Given the description of an element on the screen output the (x, y) to click on. 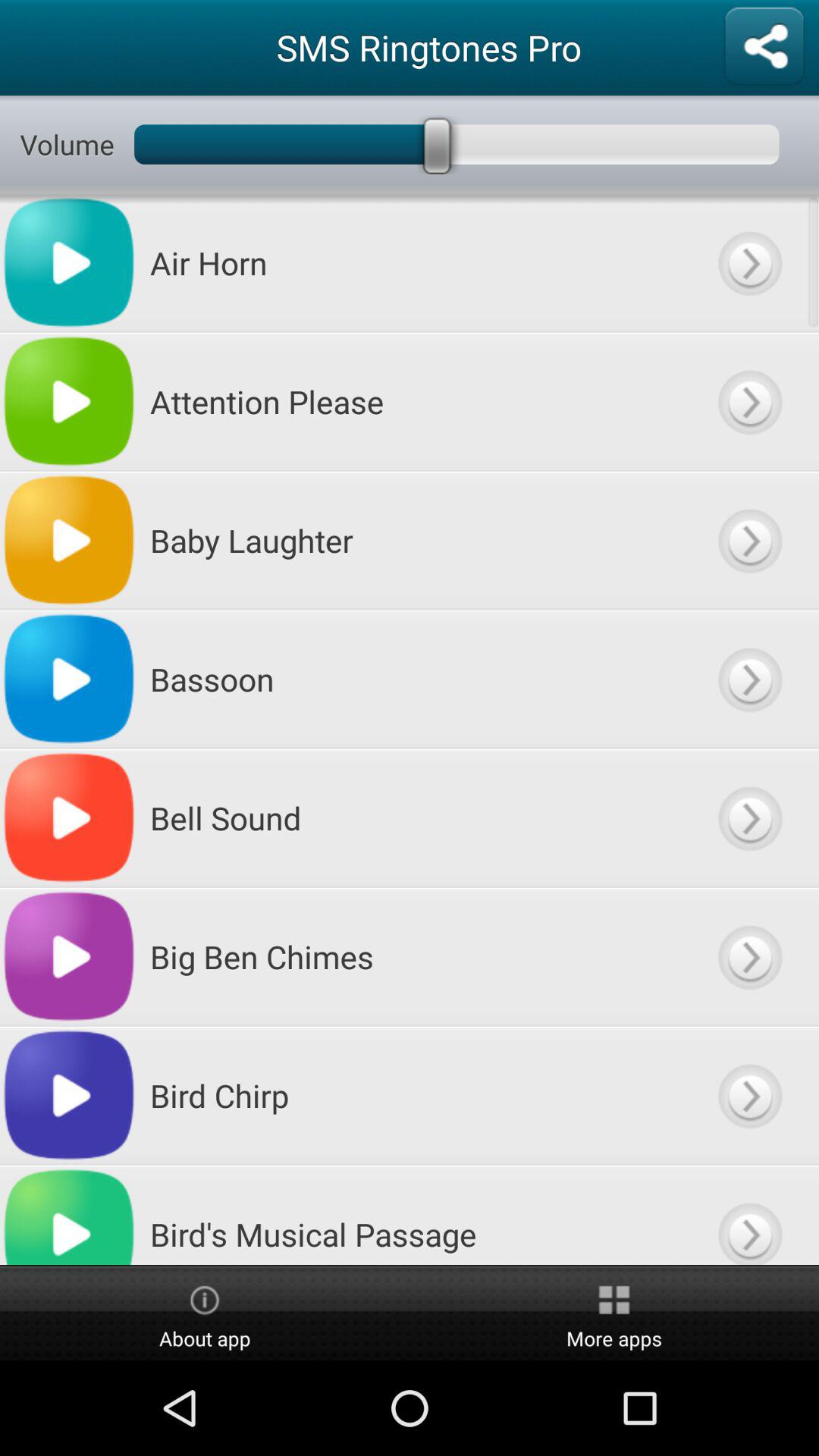
next (749, 1214)
